Given the description of an element on the screen output the (x, y) to click on. 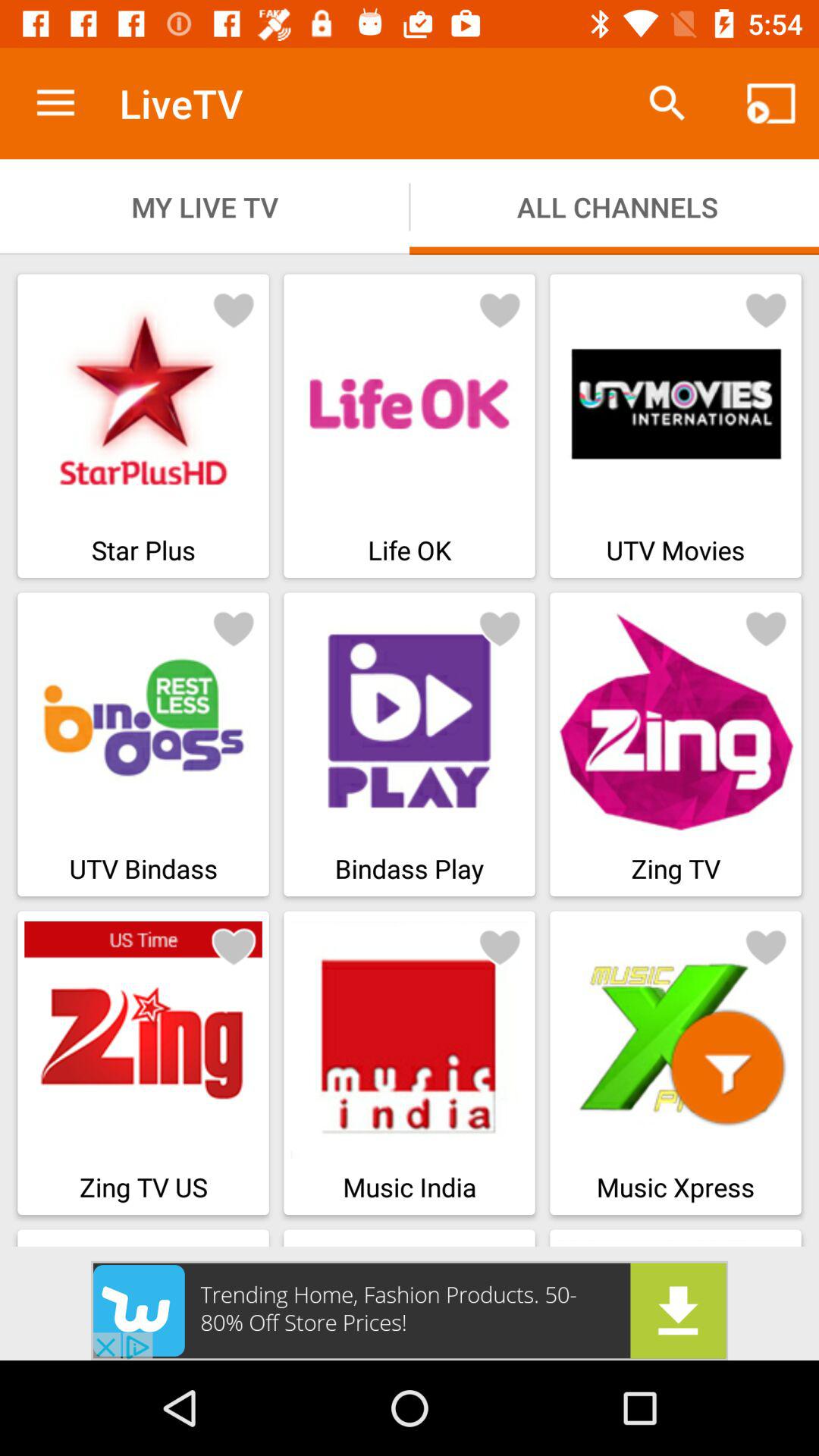
favorite button (727, 1067)
